Given the description of an element on the screen output the (x, y) to click on. 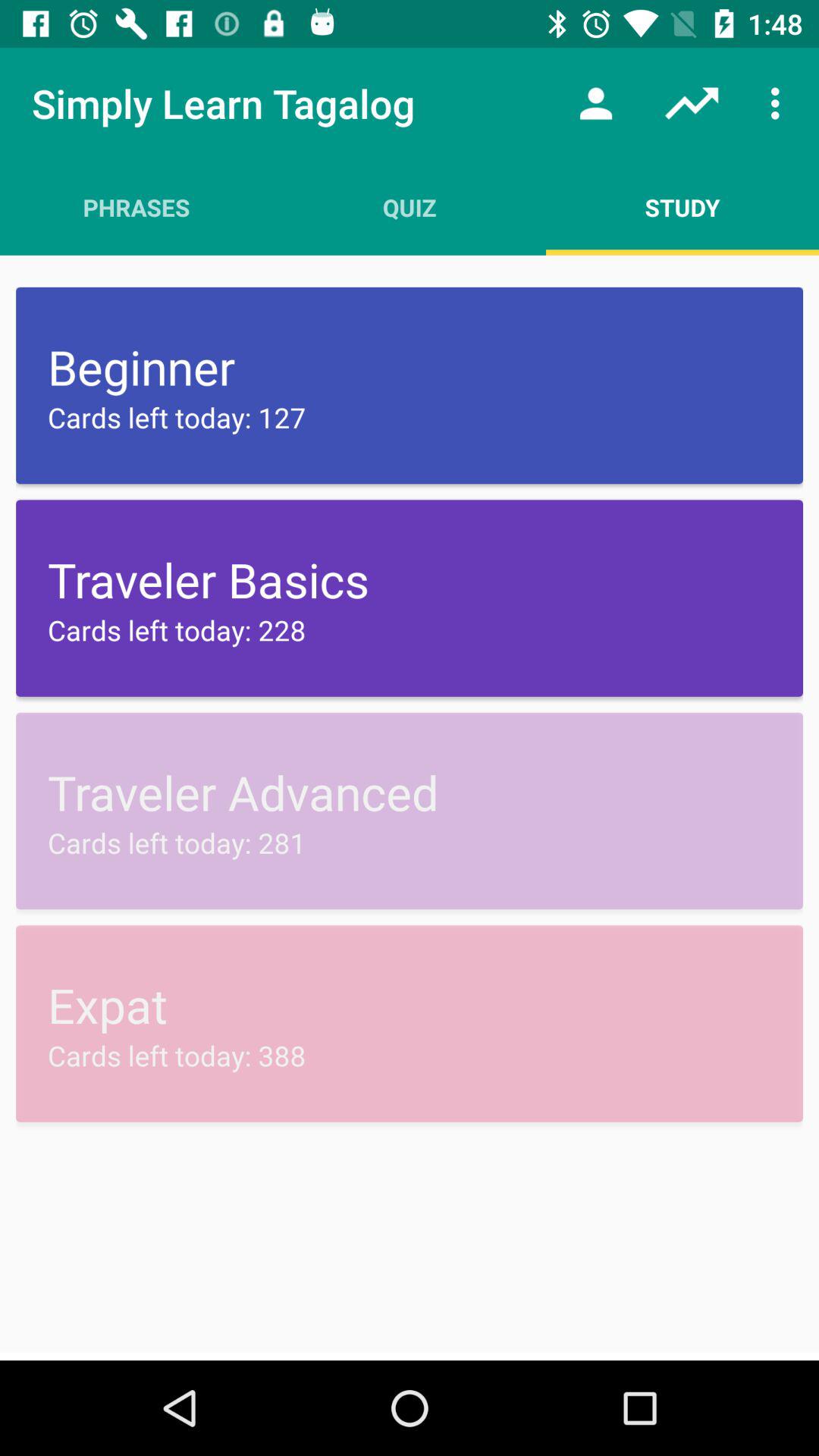
flip until phrases icon (136, 207)
